Given the description of an element on the screen output the (x, y) to click on. 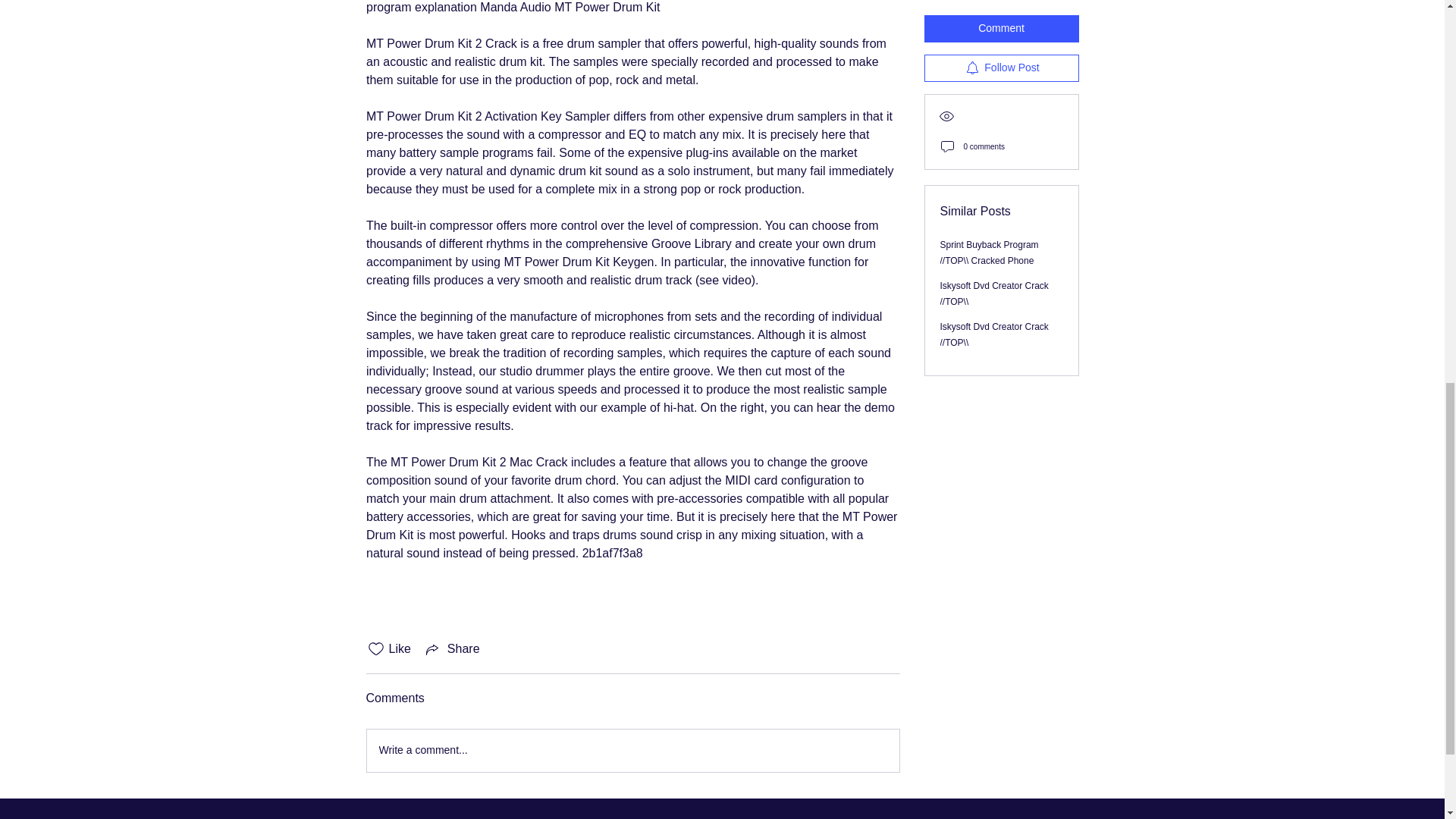
Share (451, 648)
Write a comment... (632, 750)
